Given the description of an element on the screen output the (x, y) to click on. 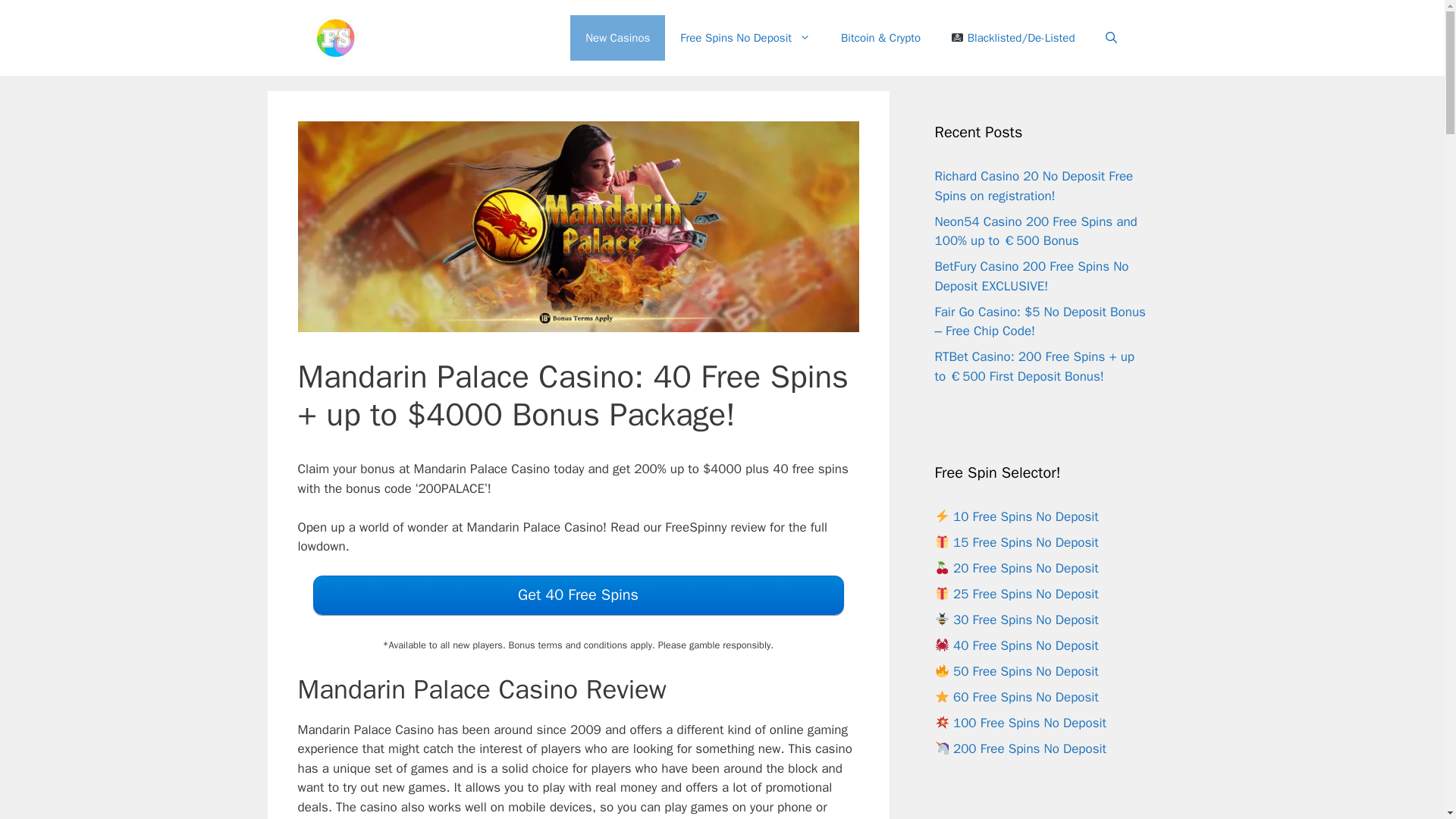
30 Free Spins No Deposit (1015, 619)
15 Free Spins No Deposit (1015, 542)
New Casinos (617, 37)
100 Free Spins No Deposit (1020, 722)
50 Free Spins No Deposit (1015, 671)
Richard Casino 20 No Deposit Free Spins on registration! (1033, 185)
Get 40 Free Spins (578, 595)
20 Free Spins No Deposit (1015, 568)
40 Free Spins No Deposit (1015, 645)
BetFury Casino 200 Free Spins No Deposit EXCLUSIVE! (1031, 276)
60 Free Spins No Deposit (1015, 697)
Free Spins No Deposit (745, 37)
10 Free Spins No Deposit (1015, 516)
25 Free Spins No Deposit (1015, 593)
